Given the description of an element on the screen output the (x, y) to click on. 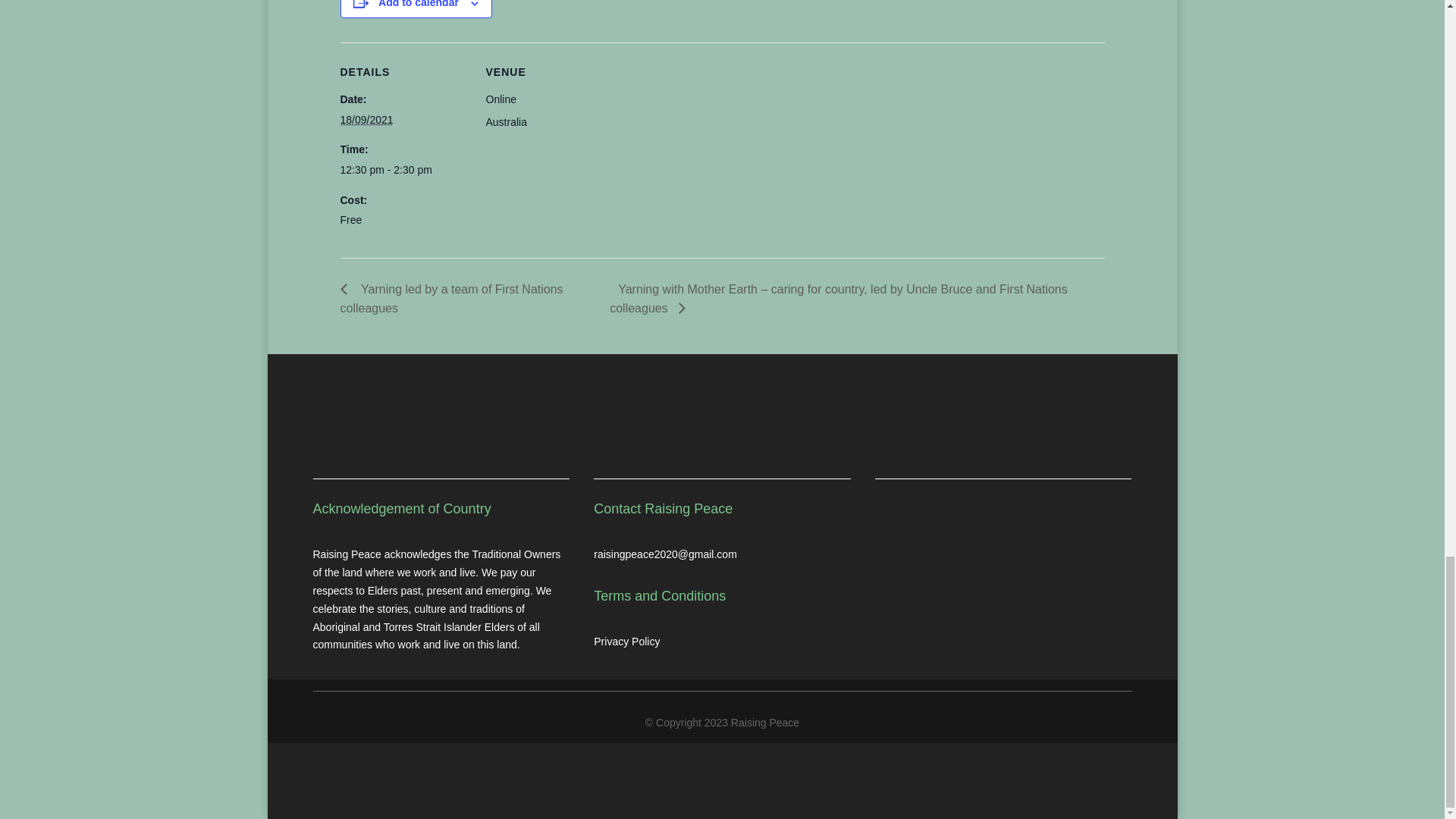
Add to calendar (418, 4)
2021-09-18 (366, 119)
2021-09-18 (403, 170)
